Given the description of an element on the screen output the (x, y) to click on. 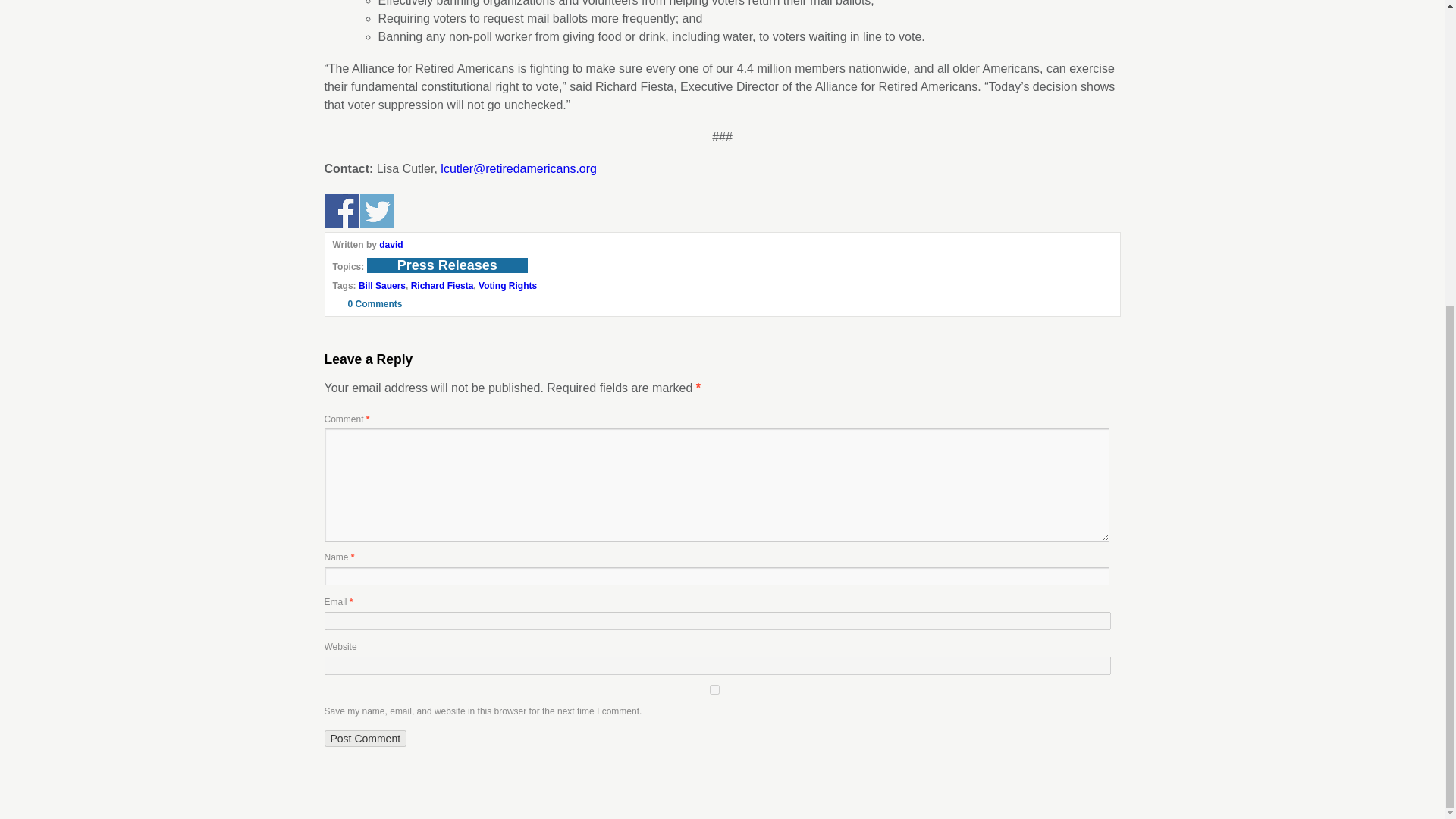
yes (714, 689)
Posts by david (390, 244)
Post Comment (365, 738)
